Given the description of an element on the screen output the (x, y) to click on. 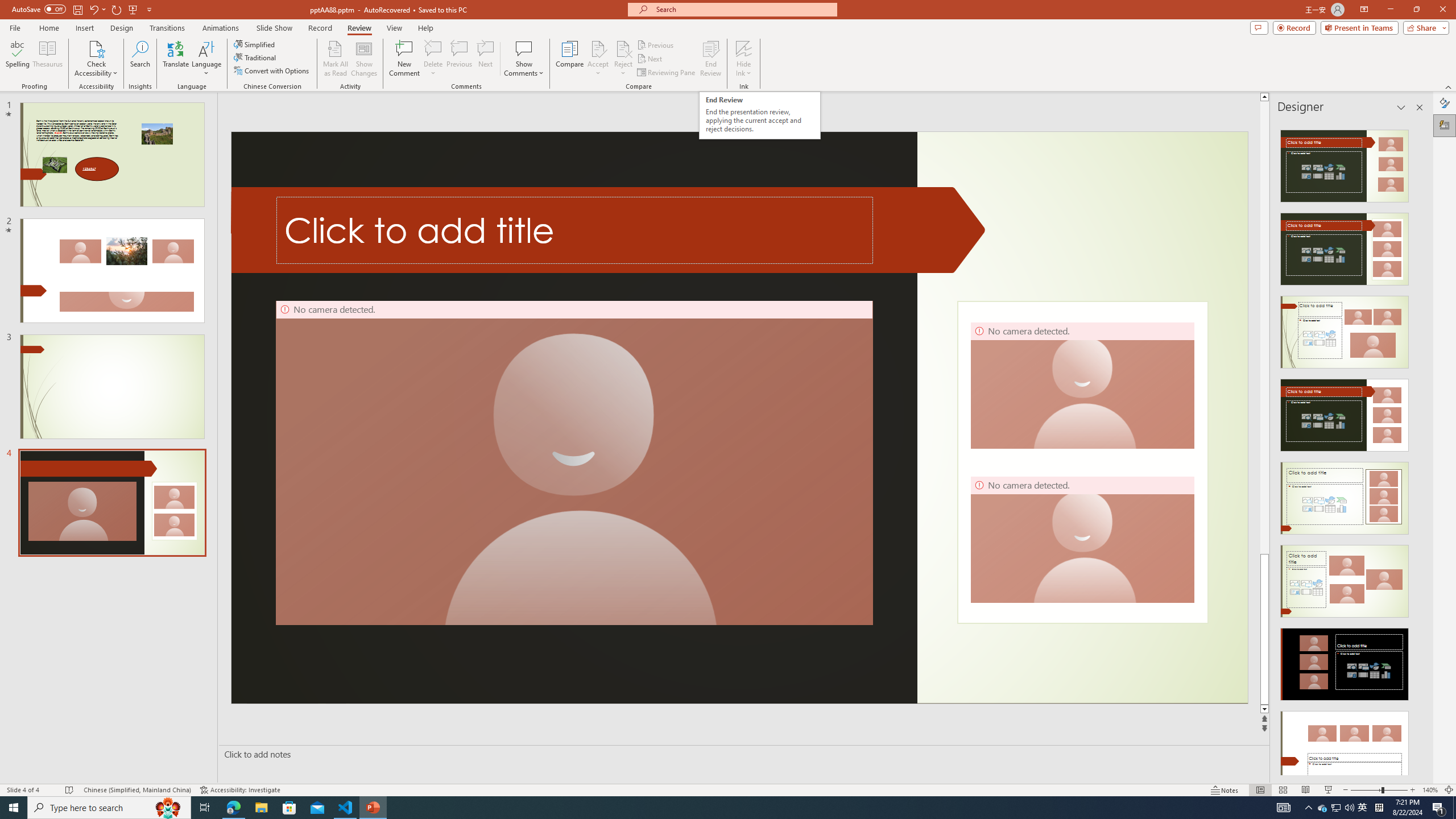
Camera 3, No camera detected. (1082, 385)
Thesaurus... (47, 58)
Accept (598, 58)
Decorative Locked (1082, 462)
Traditional (255, 56)
